Given the description of an element on the screen output the (x, y) to click on. 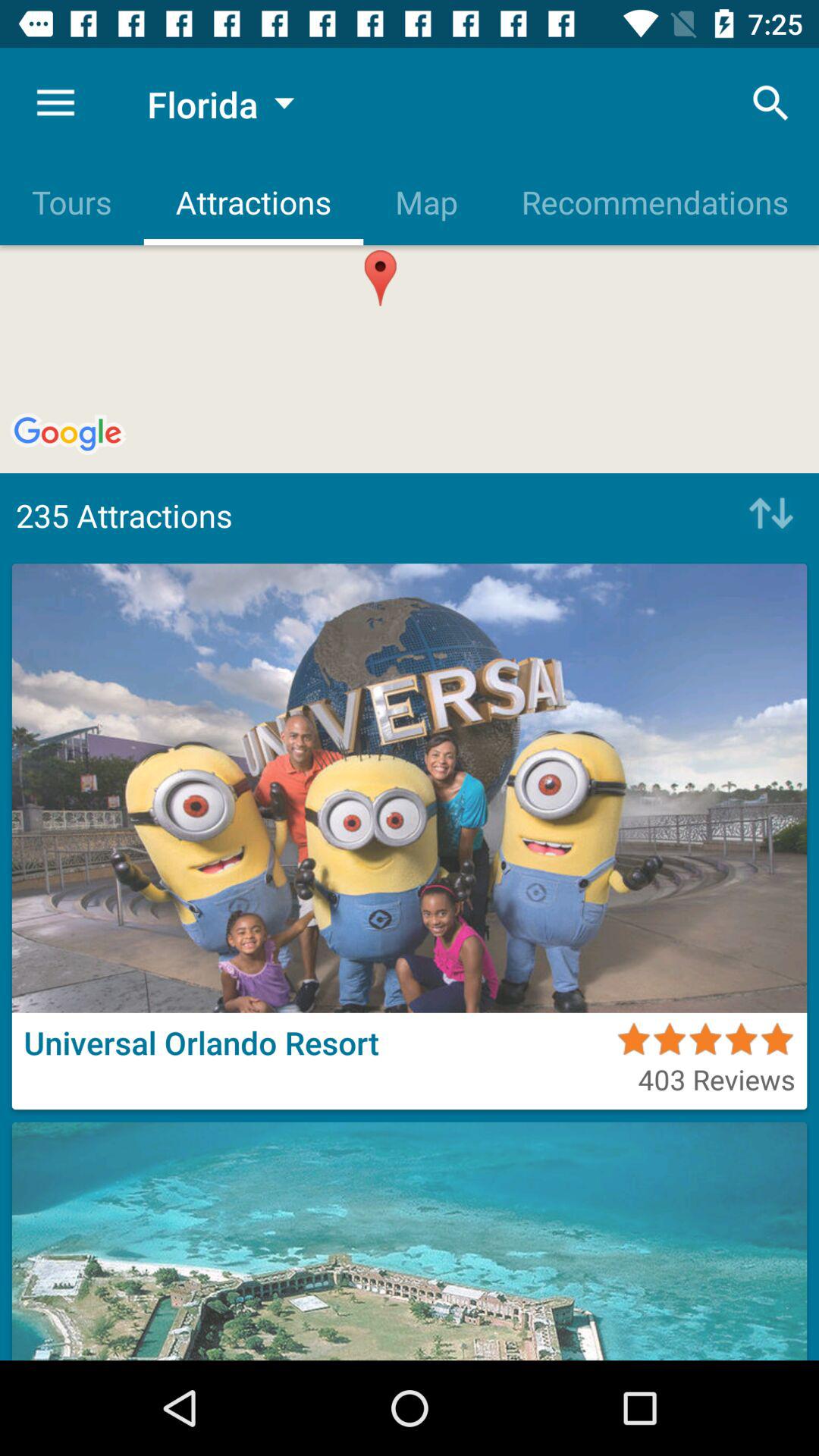
launch the item to the left of attractions item (71, 202)
